Given the description of an element on the screen output the (x, y) to click on. 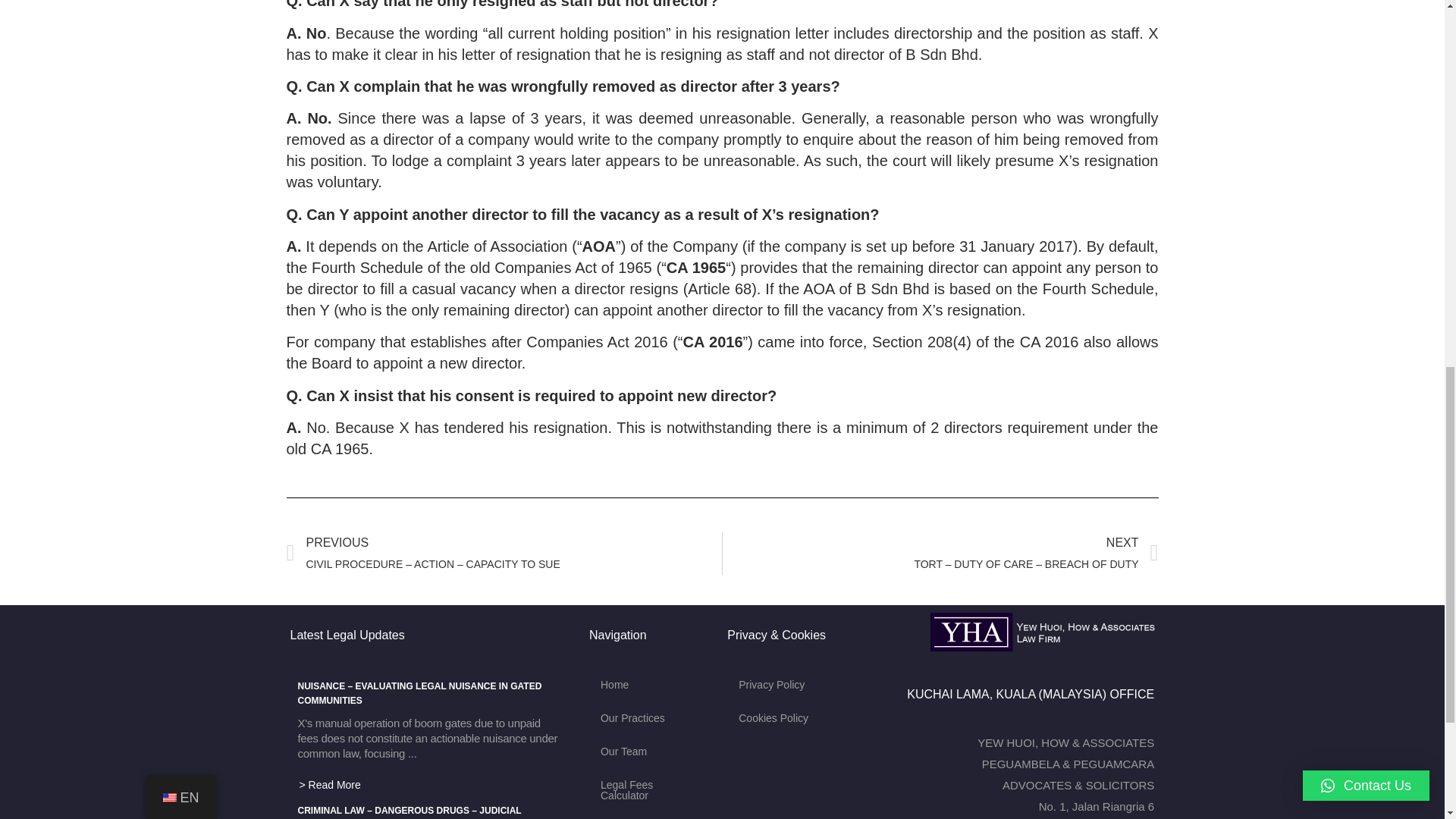
Our Team (650, 751)
Home Loan Calculator (650, 815)
Home (650, 684)
Legal Fees Calculator (650, 790)
Our Practices (650, 717)
